Given the description of an element on the screen output the (x, y) to click on. 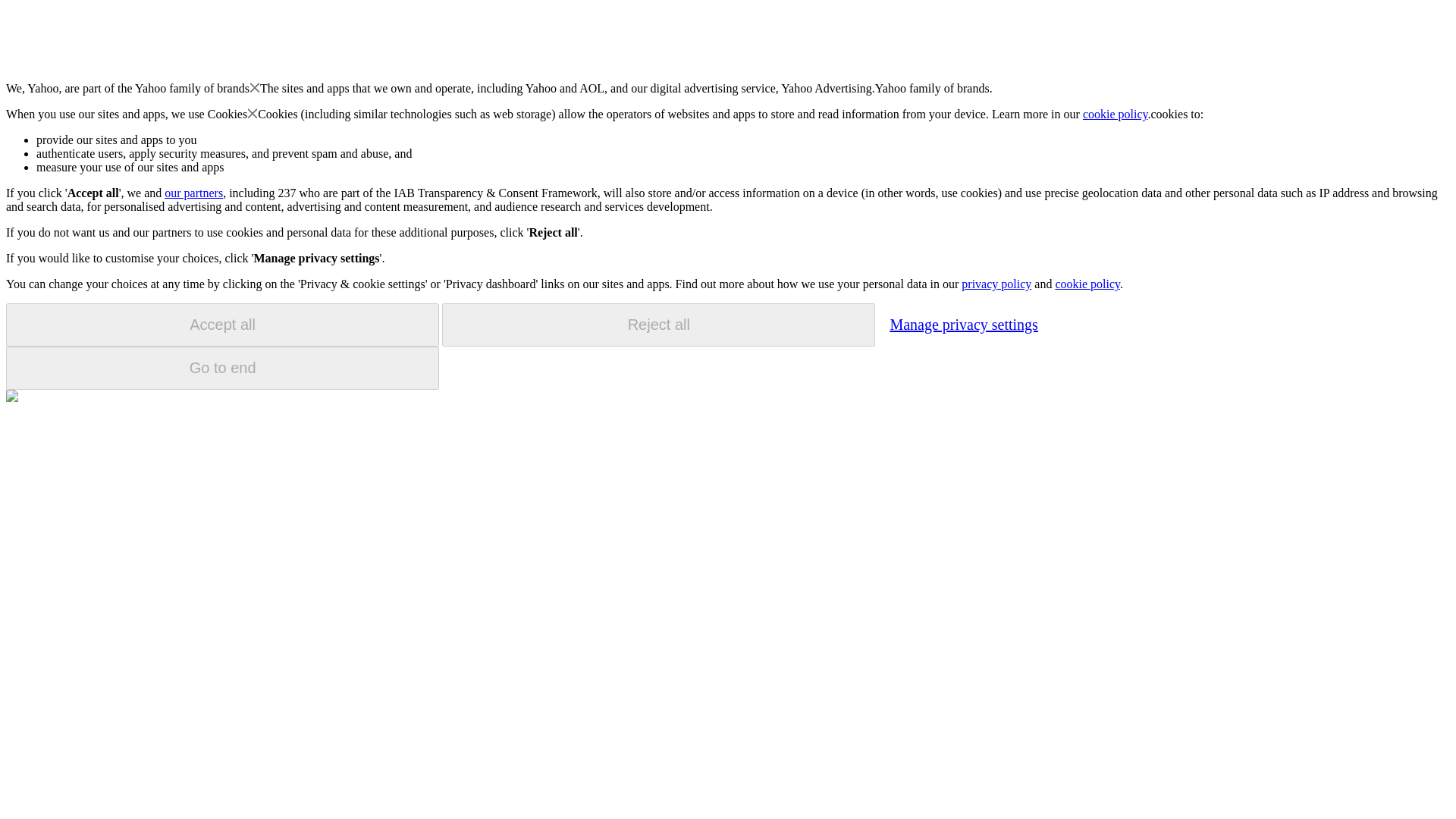
cookie policy (1086, 283)
cookie policy (1115, 113)
Accept all (222, 324)
privacy policy (995, 283)
Go to end (222, 367)
our partners (193, 192)
Reject all (658, 324)
Manage privacy settings (963, 323)
